Given the description of an element on the screen output the (x, y) to click on. 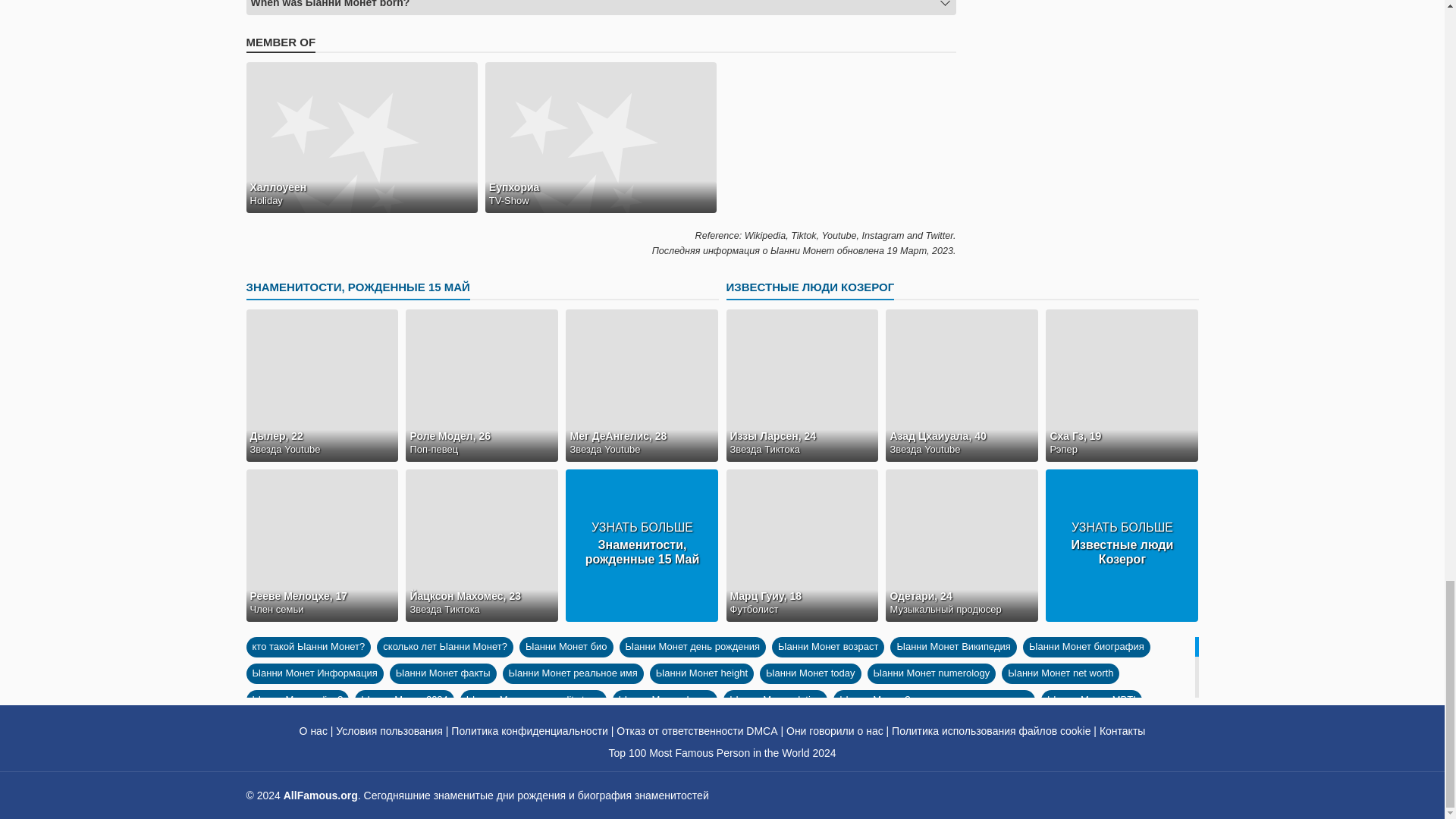
Euphoria (600, 137)
Halloween (361, 137)
